Given the description of an element on the screen output the (x, y) to click on. 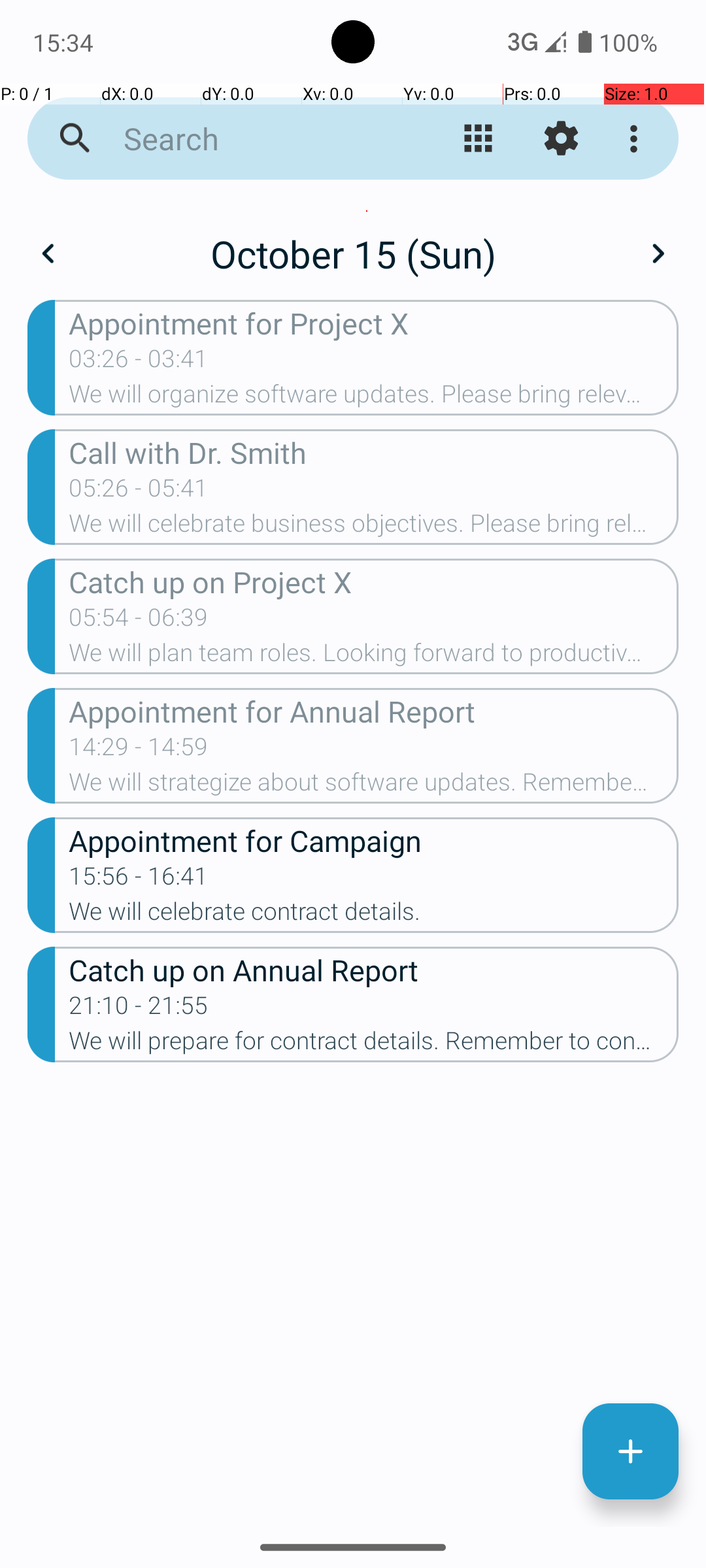
Change view Element type: android.widget.Button (477, 138)
New Event Element type: android.widget.ImageButton (630, 1451)
October 15 (Sun) Element type: android.widget.TextView (352, 253)
Appointment for Project X Element type: android.widget.TextView (373, 321)
03:26 - 03:41 Element type: android.widget.TextView (137, 362)
We will organize software updates. Please bring relevant documents. Element type: android.widget.TextView (373, 397)
Call with Dr. Smith Element type: android.widget.TextView (373, 451)
05:26 - 05:41 Element type: android.widget.TextView (137, 491)
We will celebrate business objectives. Please bring relevant documents. Element type: android.widget.TextView (373, 526)
Catch up on Project X Element type: android.widget.TextView (373, 580)
05:54 - 06:39 Element type: android.widget.TextView (137, 620)
We will plan team roles. Looking forward to productive discussions. Element type: android.widget.TextView (373, 656)
Appointment for Annual Report Element type: android.widget.TextView (373, 710)
14:29 - 14:59 Element type: android.widget.TextView (137, 750)
We will strategize about software updates. Remember to confirm attendance. Element type: android.widget.TextView (373, 785)
Appointment for Campaign Element type: android.widget.TextView (373, 839)
15:56 - 16:41 Element type: android.widget.TextView (137, 879)
We will celebrate contract details. Element type: android.widget.TextView (373, 914)
Catch up on Annual Report Element type: android.widget.TextView (373, 968)
21:10 - 21:55 Element type: android.widget.TextView (137, 1009)
We will prepare for contract details. Remember to confirm attendance. Element type: android.widget.TextView (373, 1044)
